Given the description of an element on the screen output the (x, y) to click on. 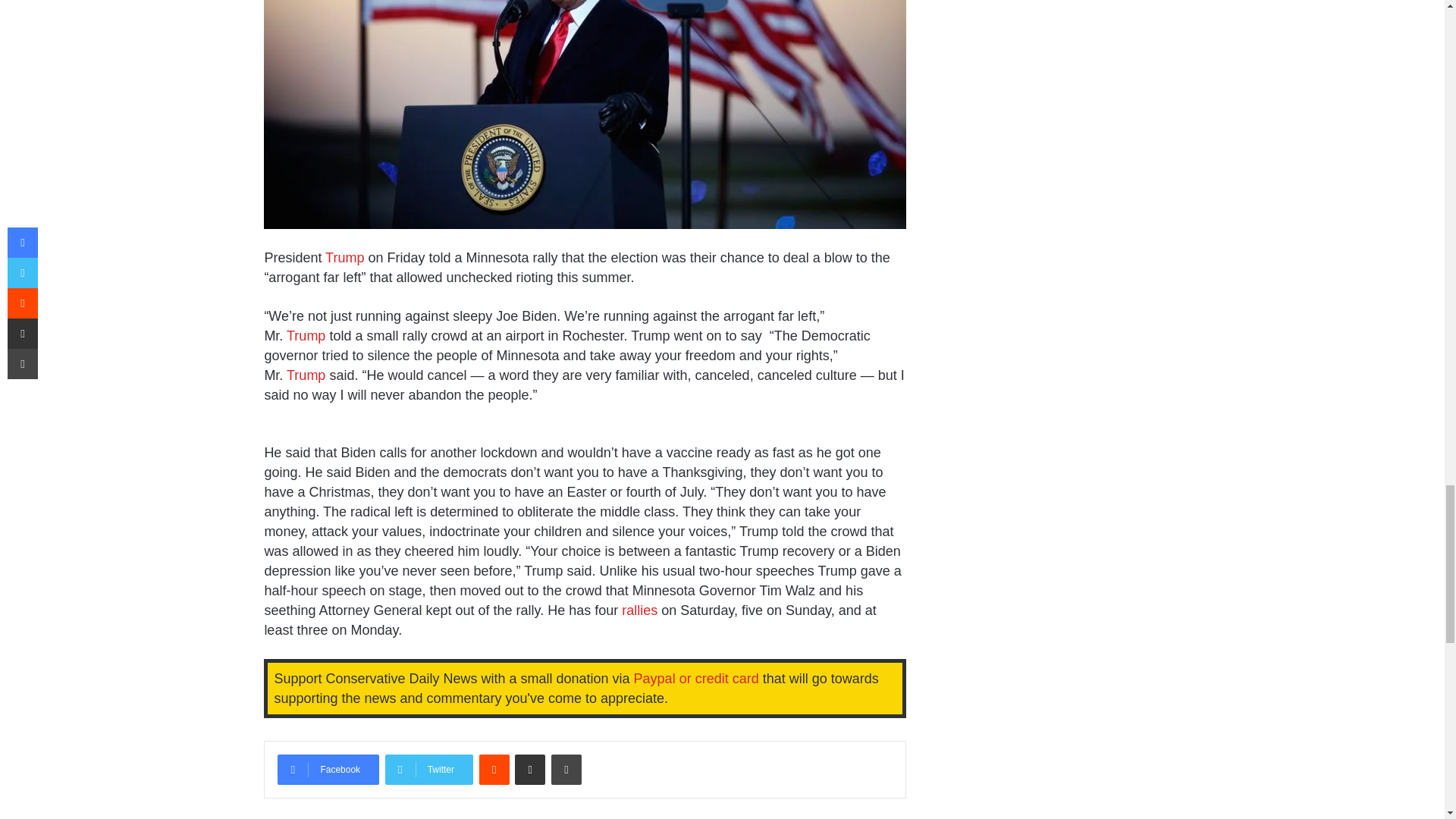
Twitter (429, 769)
Facebook (328, 769)
